Given the description of an element on the screen output the (x, y) to click on. 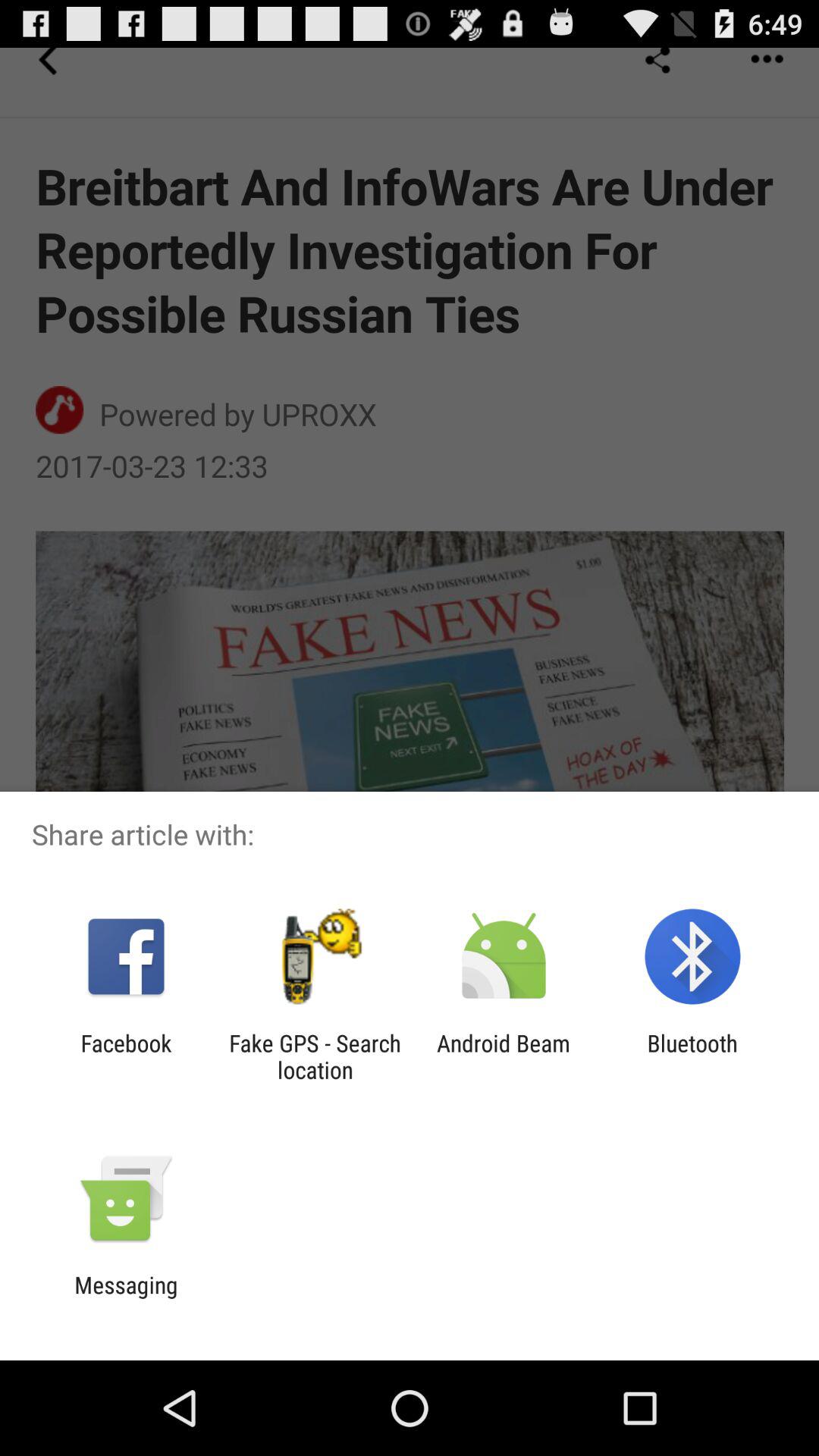
choose the app next to the fake gps search app (503, 1056)
